Given the description of an element on the screen output the (x, y) to click on. 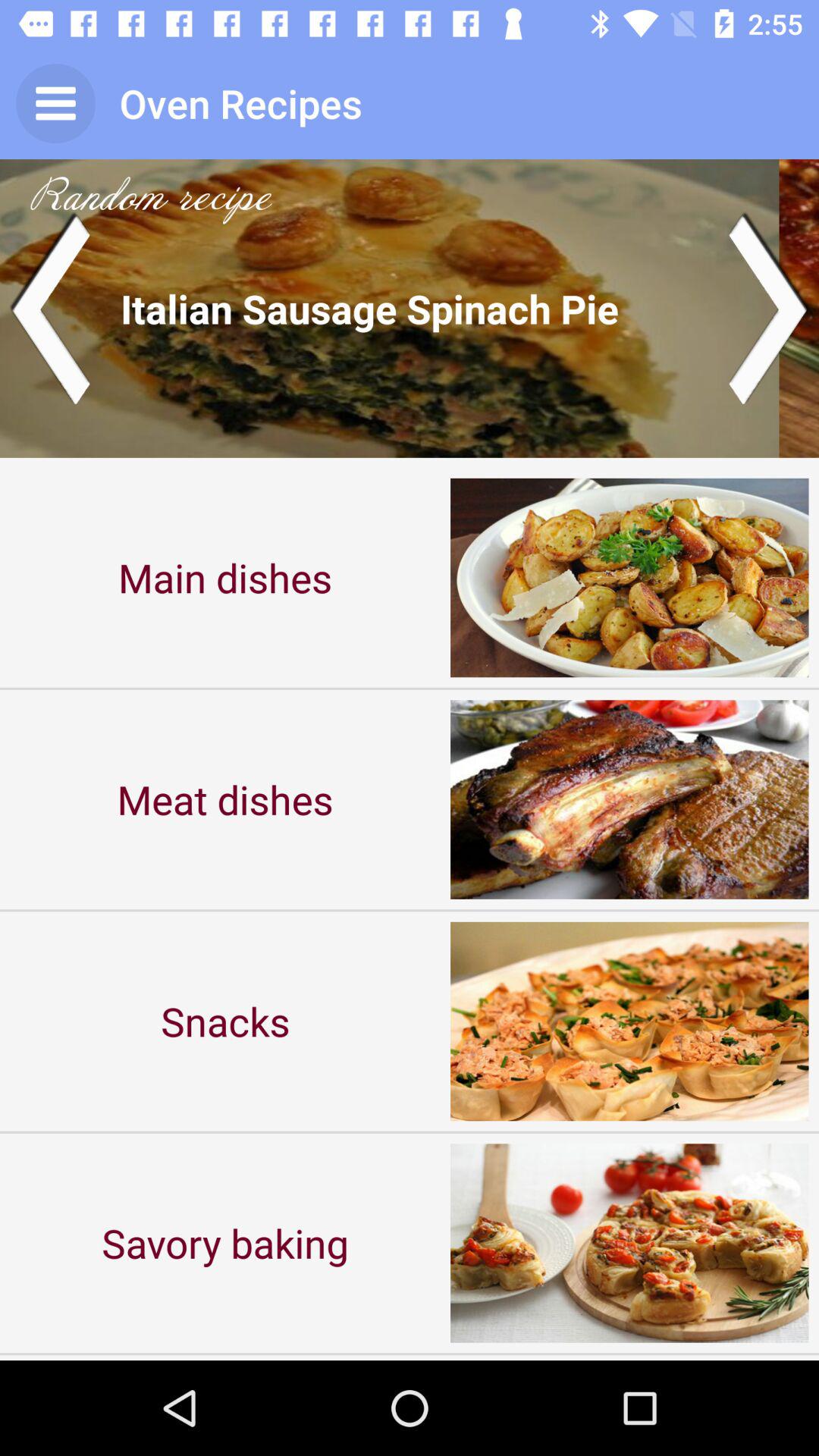
press icon above the main dishes icon (409, 308)
